Given the description of an element on the screen output the (x, y) to click on. 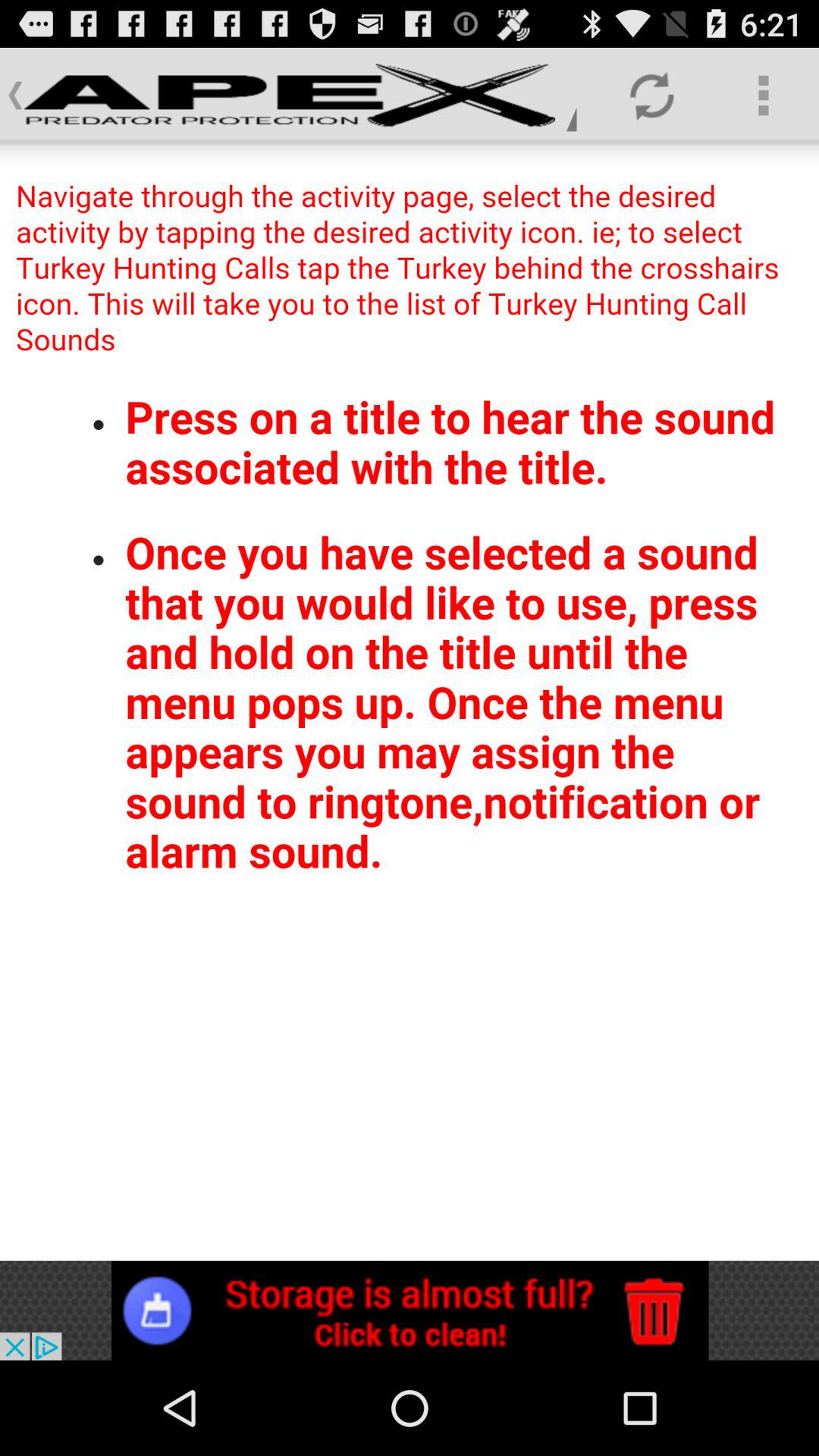
advertisement bar (409, 1310)
